Given the description of an element on the screen output the (x, y) to click on. 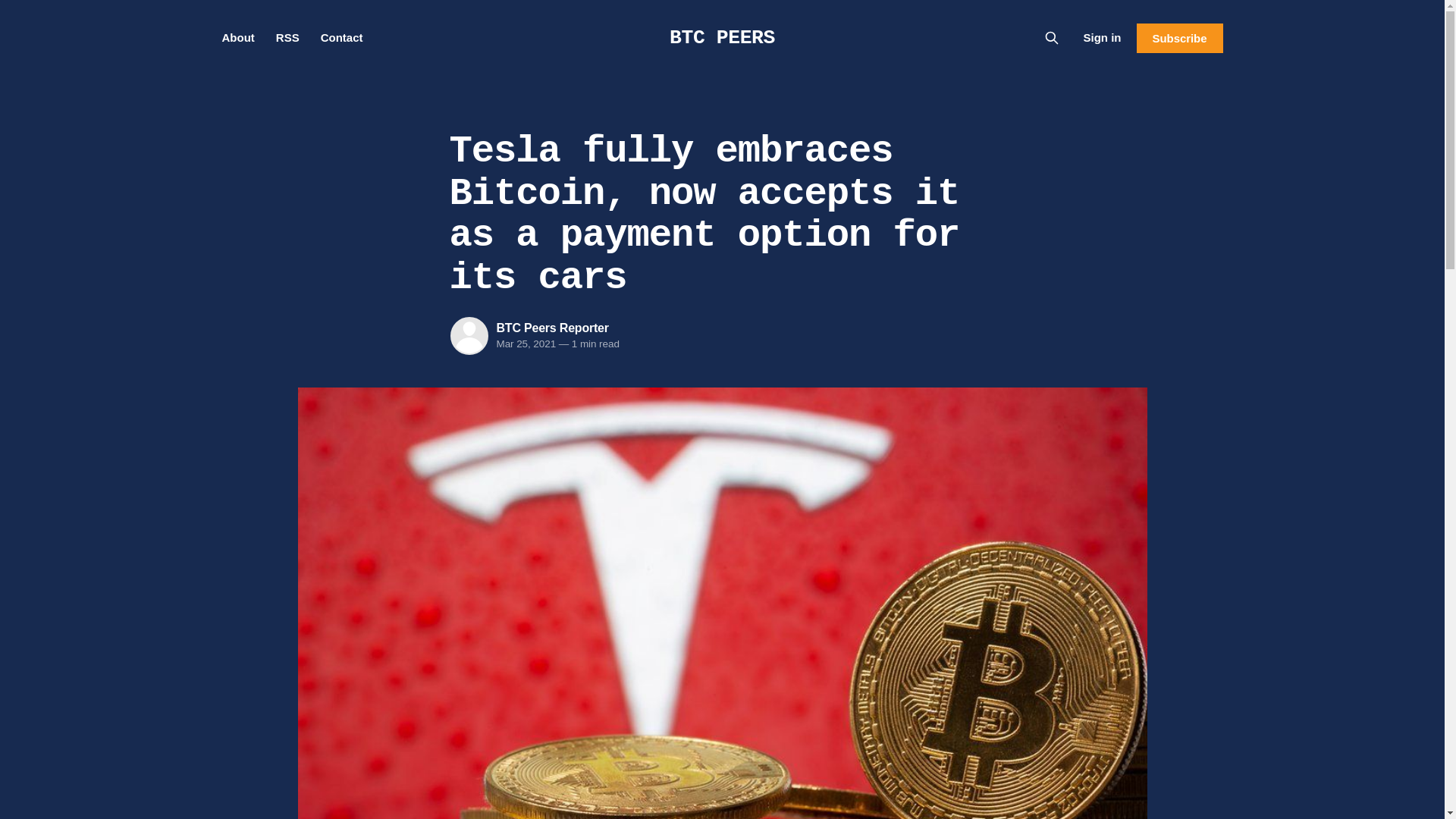
Sign in (1102, 37)
BTC PEERS (721, 37)
About (237, 37)
RSS (287, 37)
BTC Peers Reporter (552, 327)
Contact (341, 37)
Subscribe (1179, 37)
